Given the description of an element on the screen output the (x, y) to click on. 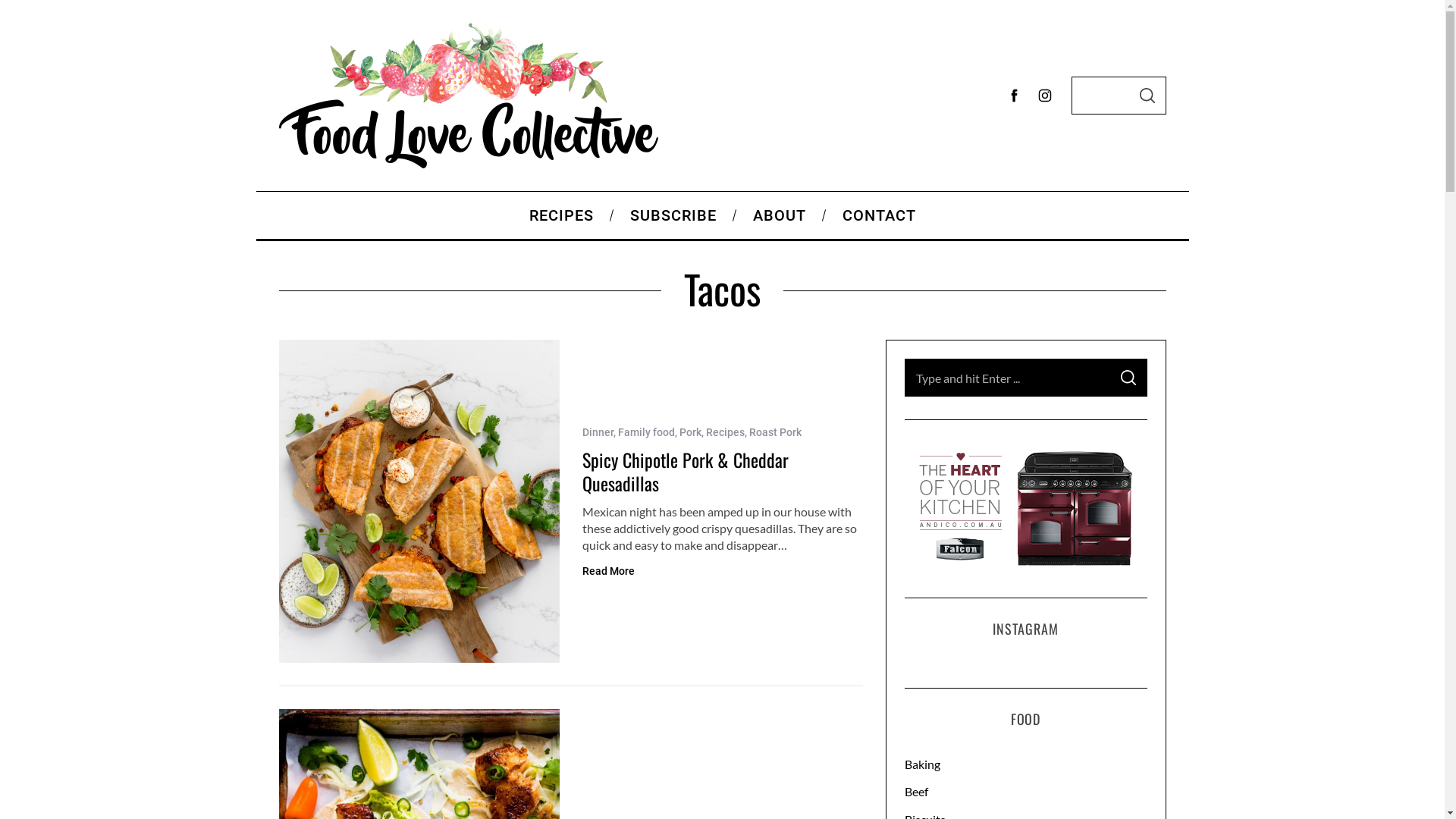
SEARCH Element type: text (1147, 95)
Beef Element type: text (1024, 791)
Family food Element type: text (645, 432)
Spicy Chipotle Pork & Cheddar Quesadillas Element type: text (685, 470)
Dinner Element type: text (597, 432)
Baking Element type: text (1024, 764)
SUBSCRIBE Element type: text (672, 214)
Pork Element type: text (690, 432)
SEARCH Element type: text (1127, 377)
Read More Element type: text (608, 570)
RECIPES Element type: text (561, 214)
Spicy Chipotle Pork & Cheddar Quesadillas Element type: hover (419, 500)
ABOUT Element type: text (778, 214)
CONTACT Element type: text (878, 214)
Recipes Element type: text (724, 432)
Roast Pork Element type: text (775, 432)
